Given the description of an element on the screen output the (x, y) to click on. 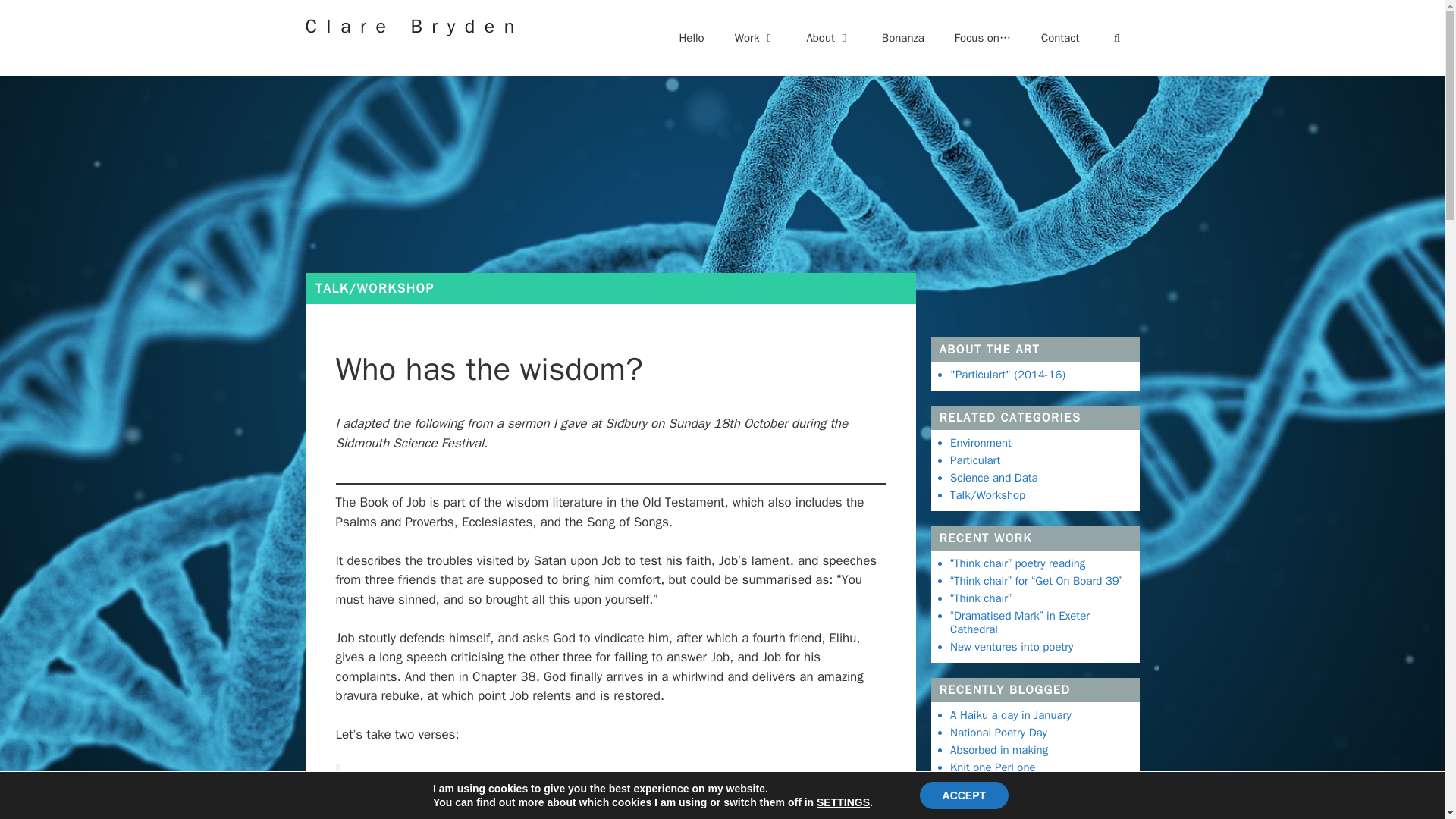
Contact (1060, 37)
Bonanza (902, 37)
About (828, 37)
Clare Bryden (413, 25)
Work (755, 37)
Science and Data (994, 477)
Environment (980, 441)
Particulart (975, 459)
Hello (691, 37)
